Given the description of an element on the screen output the (x, y) to click on. 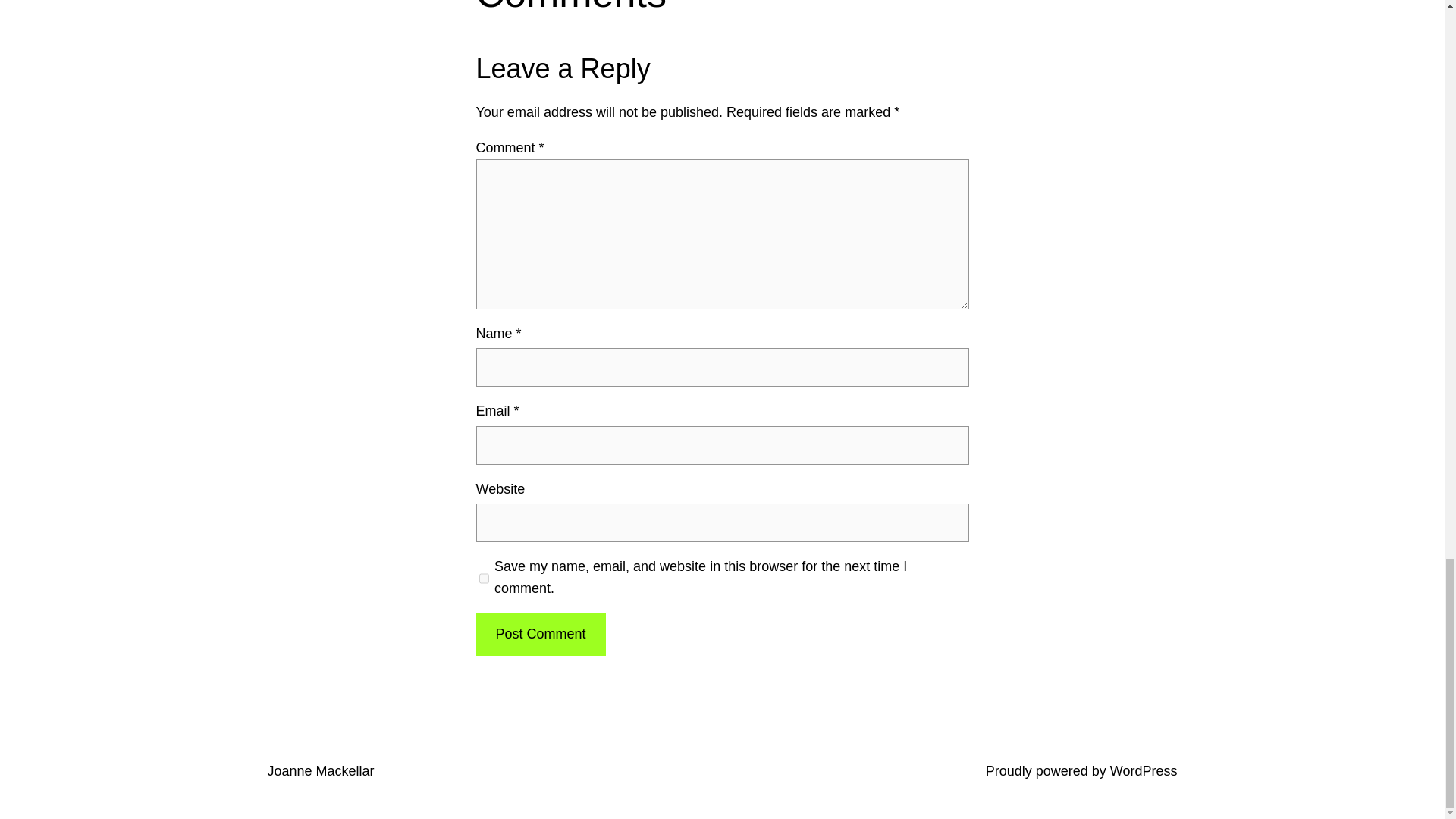
Joanne Mackellar (320, 770)
Post Comment (540, 634)
Post Comment (540, 634)
WordPress (1143, 770)
